Given the description of an element on the screen output the (x, y) to click on. 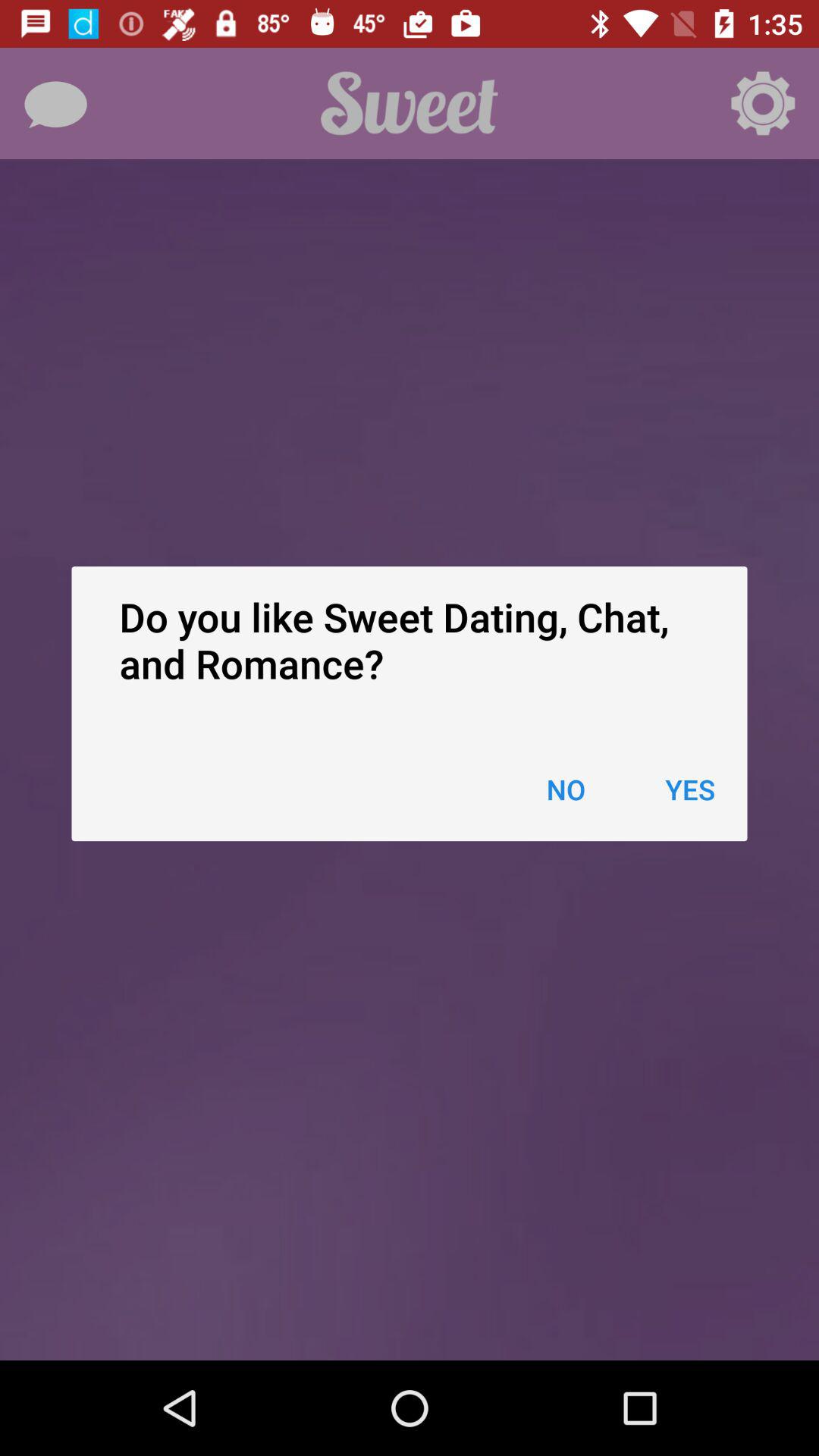
turn on item next to the no item (690, 789)
